Given the description of an element on the screen output the (x, y) to click on. 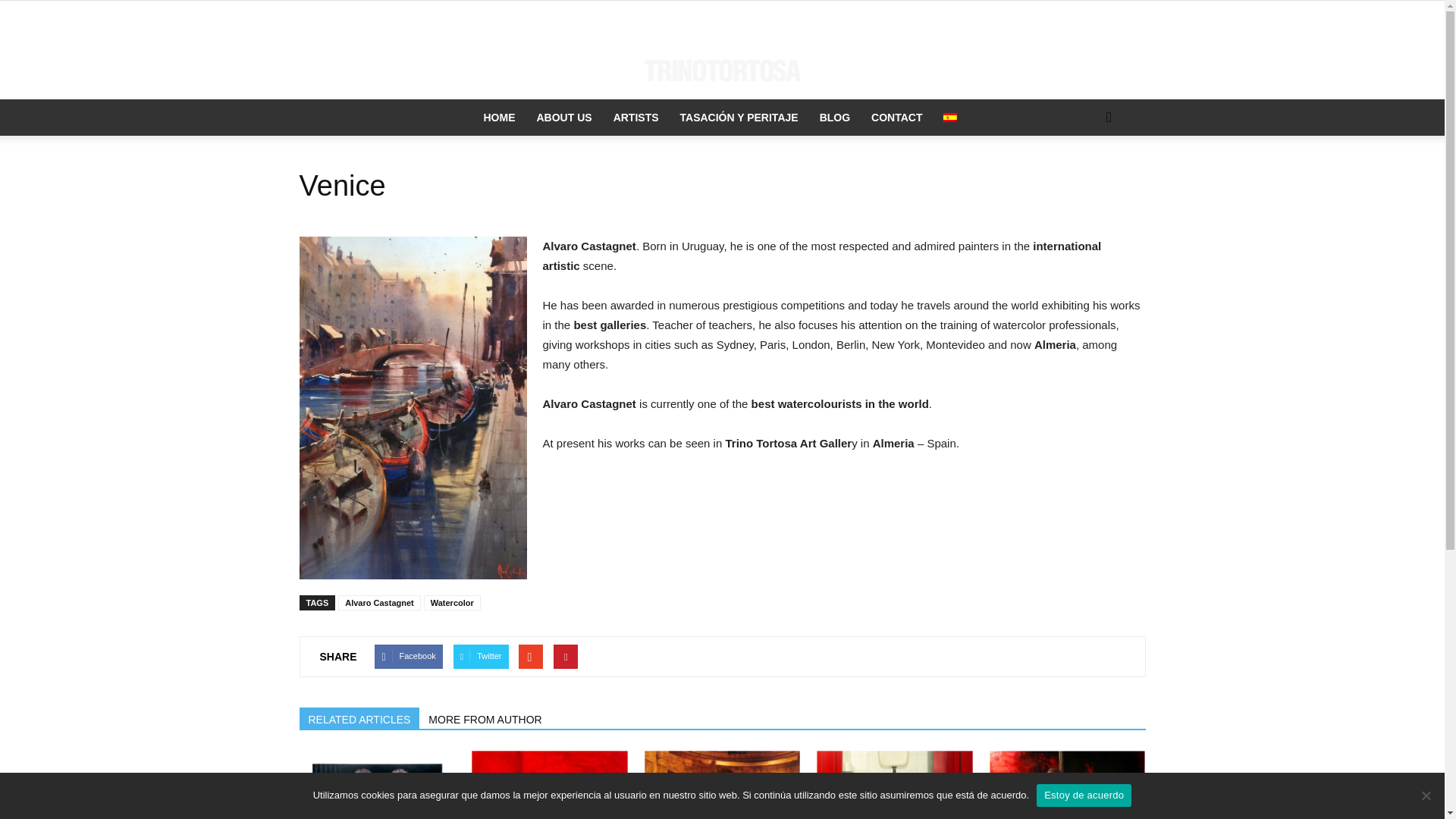
Twitter (480, 656)
HYPEREMPHATIC ART (376, 785)
ABOUT US (563, 117)
BLOG (834, 117)
HOME (499, 117)
Young People in Calm (549, 785)
Facebook (408, 656)
RELATED ARTICLES (358, 717)
Search (1085, 178)
Alvaro Castagnet (378, 602)
